Given the description of an element on the screen output the (x, y) to click on. 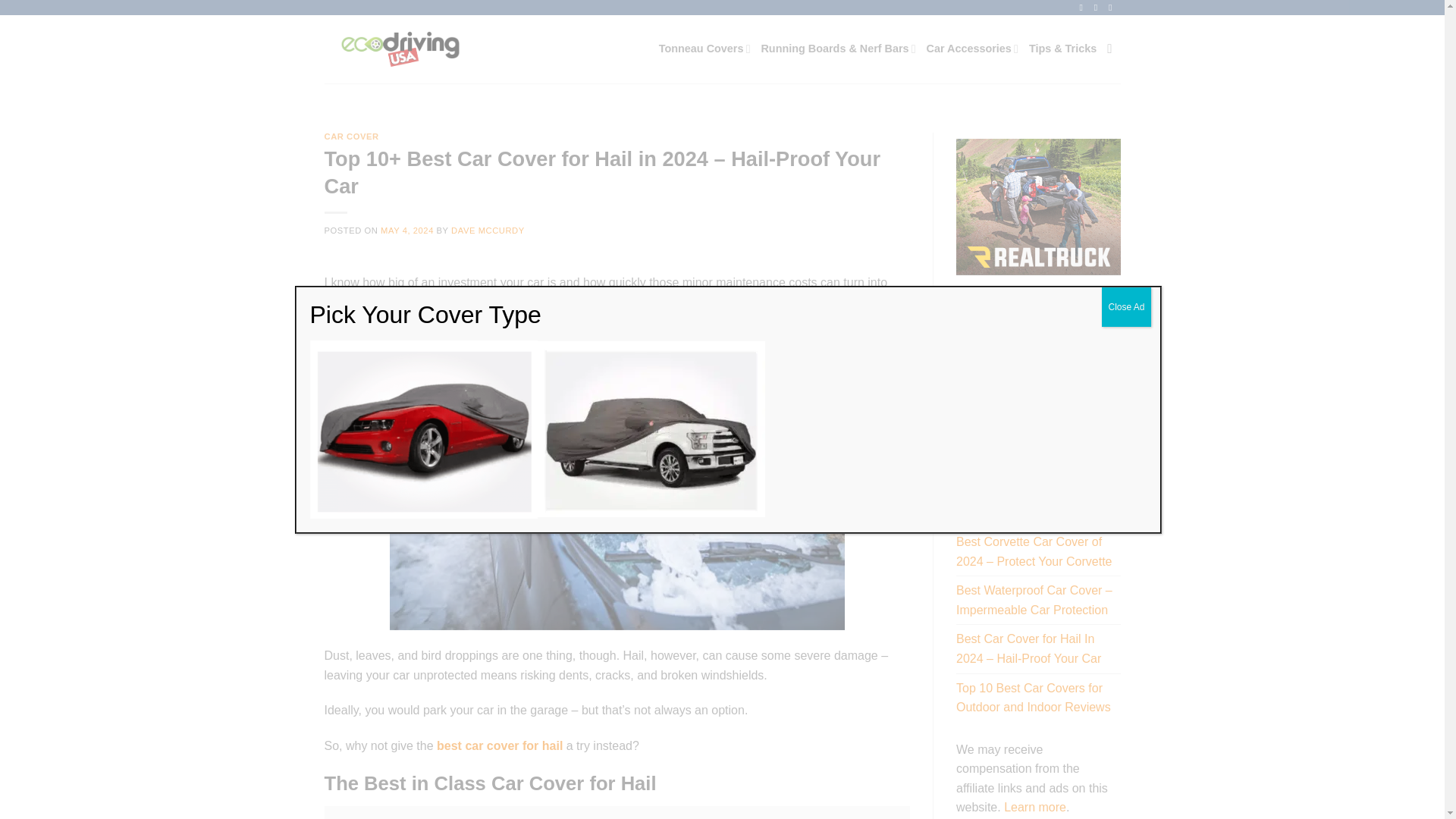
best car cover for hail (499, 745)
DAVE MCCURDY (487, 230)
best car cover for hail (499, 745)
MAY 4, 2024 (406, 230)
CAR COVER (351, 135)
Car Accessories (971, 48)
Tonneau Covers (705, 48)
